Given the description of an element on the screen output the (x, y) to click on. 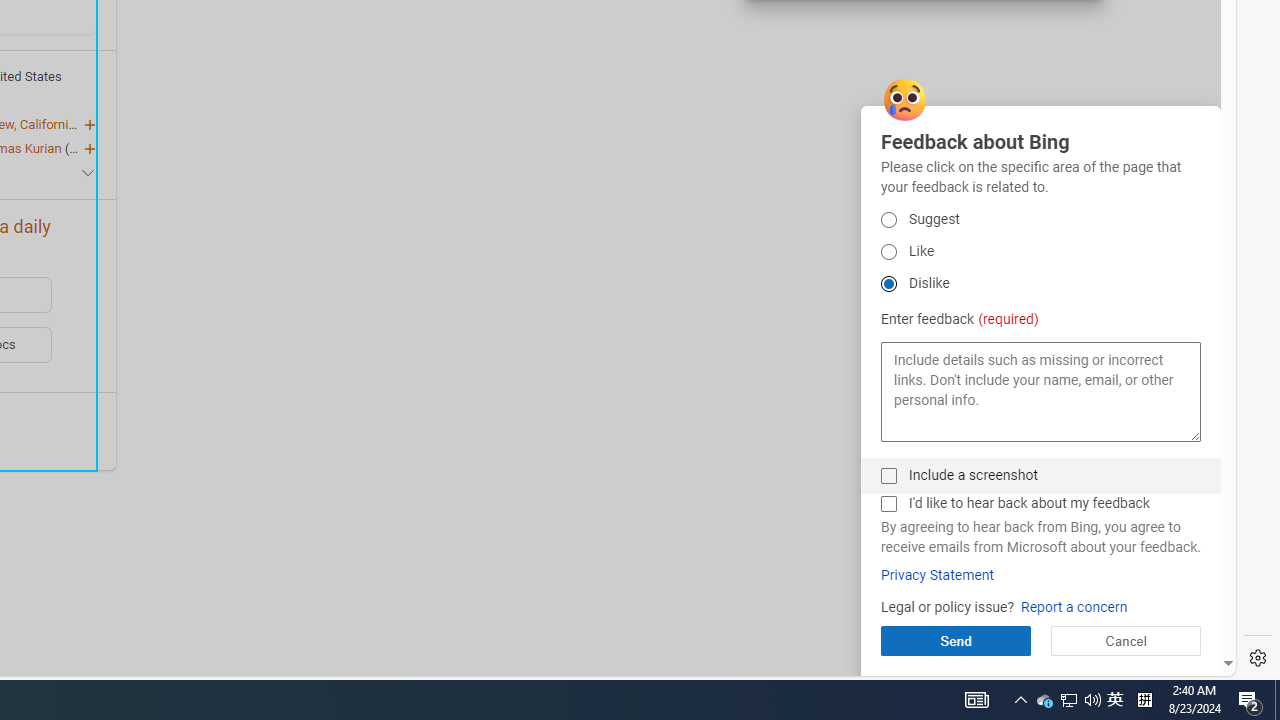
Tray Input Indicator - Chinese (Simplified, China) (1144, 699)
Report a concern (1074, 607)
Notification Chevron (1020, 699)
AutomationID: 4105 (976, 699)
